Given the description of an element on the screen output the (x, y) to click on. 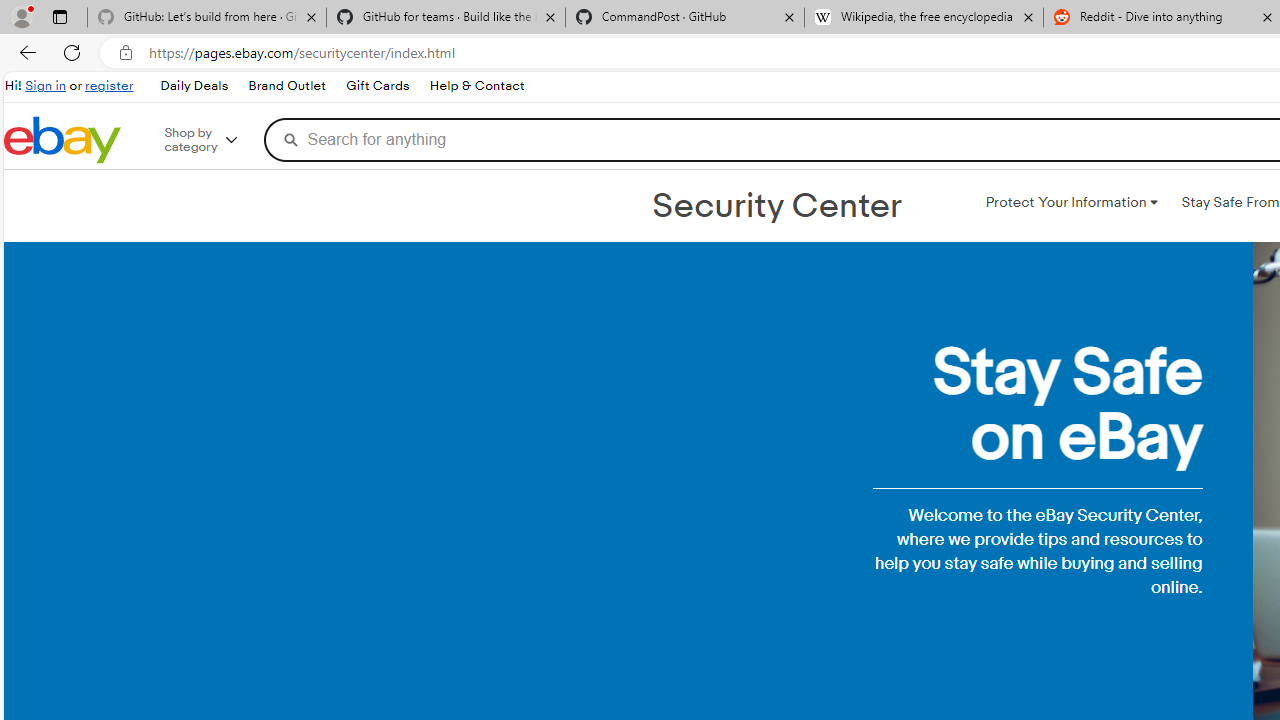
Daily Deals (194, 86)
Wikipedia, the free encyclopedia (924, 17)
Sign in (45, 85)
register (109, 85)
Help & Contact (475, 85)
Brand Outlet (285, 85)
Protect Your Information  (1071, 202)
Gift Cards (376, 85)
Help & Contact (476, 86)
